Given the description of an element on the screen output the (x, y) to click on. 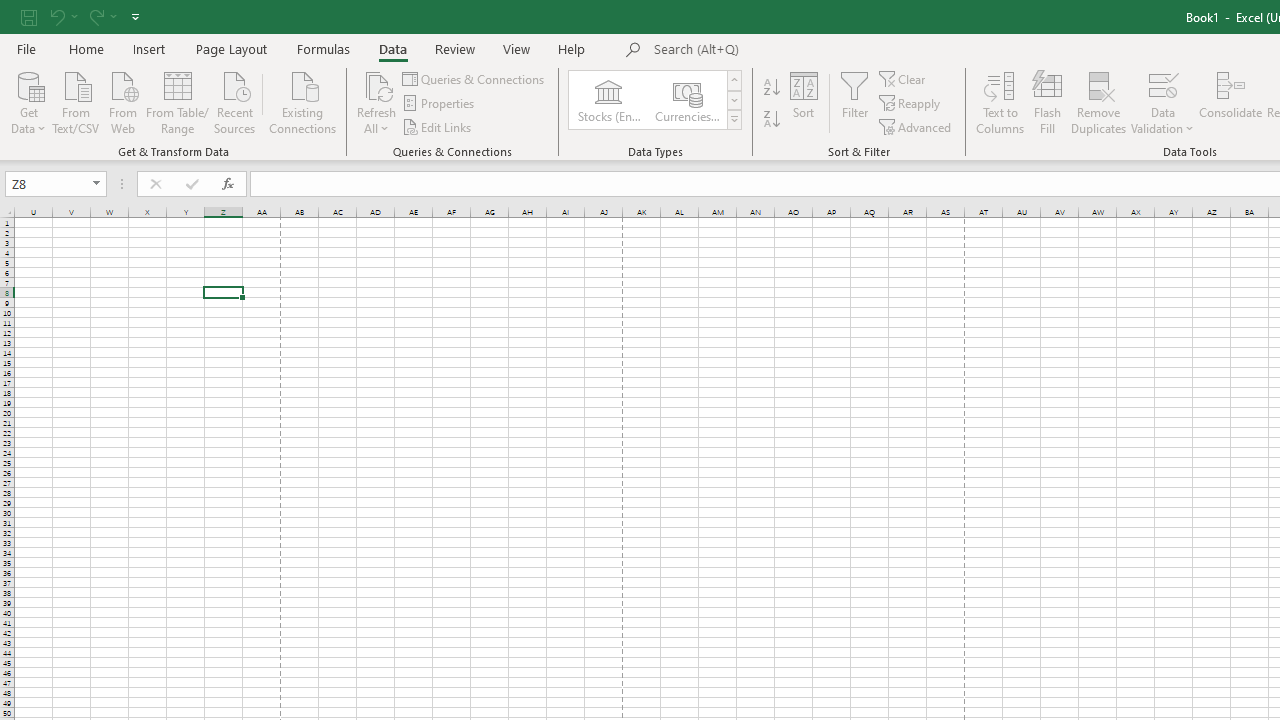
Remove Duplicates (1098, 102)
Sort Z to A (772, 119)
From Table/Range (177, 101)
Queries & Connections (474, 78)
Flash Fill (1047, 102)
